Given the description of an element on the screen output the (x, y) to click on. 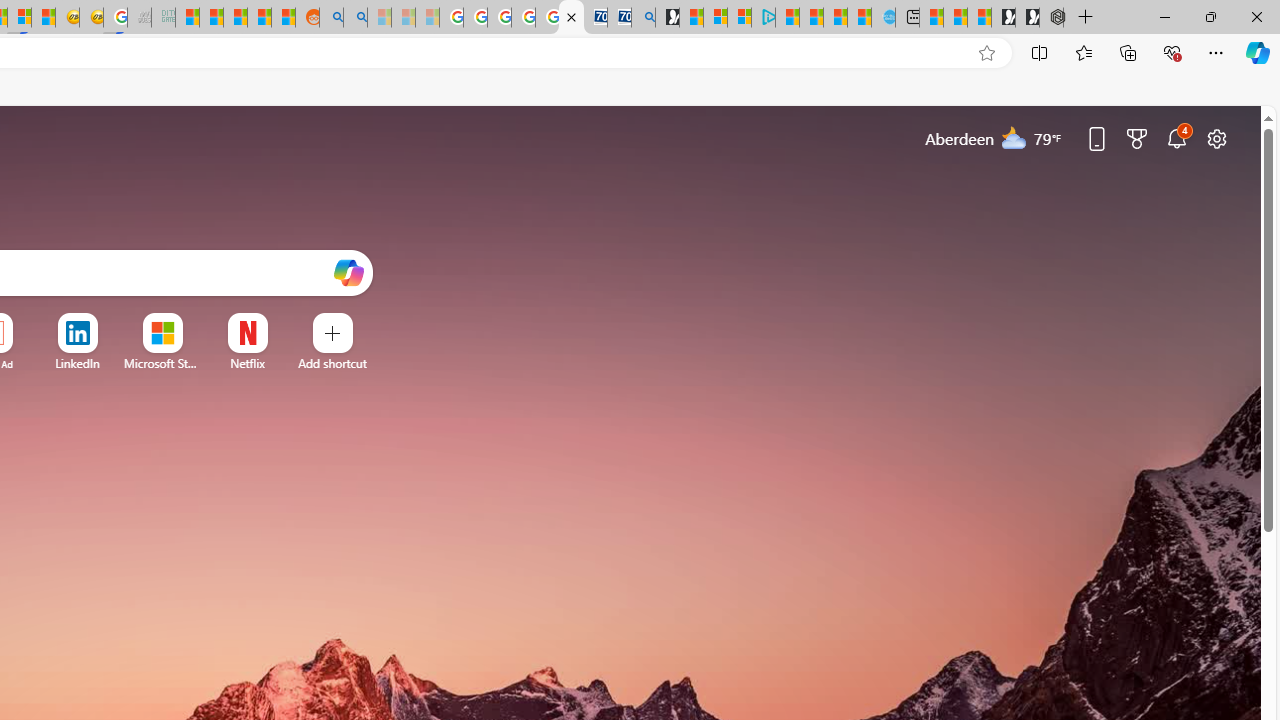
LinkedIn (77, 363)
DITOGAMES AG Imprint - Sleeping (163, 17)
Microsoft rewards (1137, 138)
Play Free Online Games | Games from Microsoft Start (1027, 17)
Microsoft Start Gaming (667, 17)
